Given the description of an element on the screen output the (x, y) to click on. 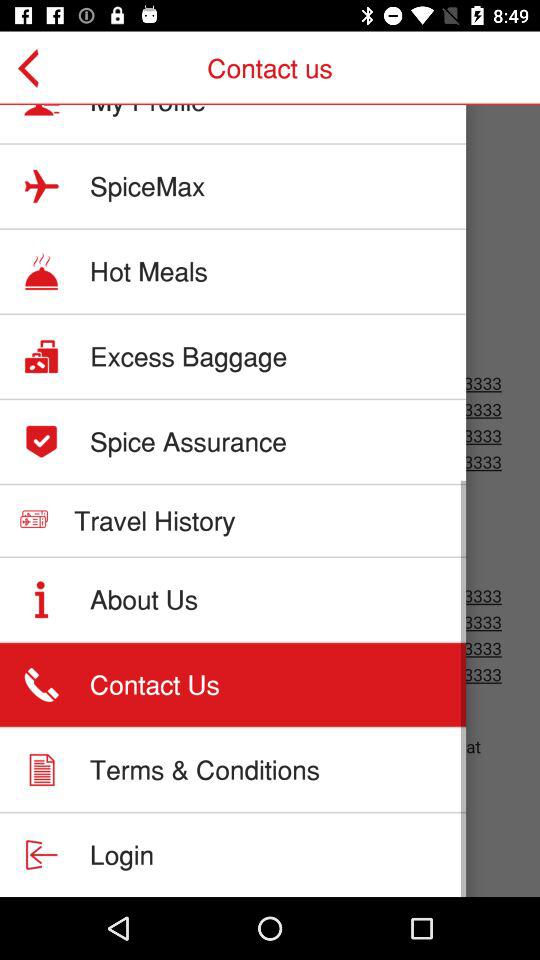
press about us item (144, 599)
